Given the description of an element on the screen output the (x, y) to click on. 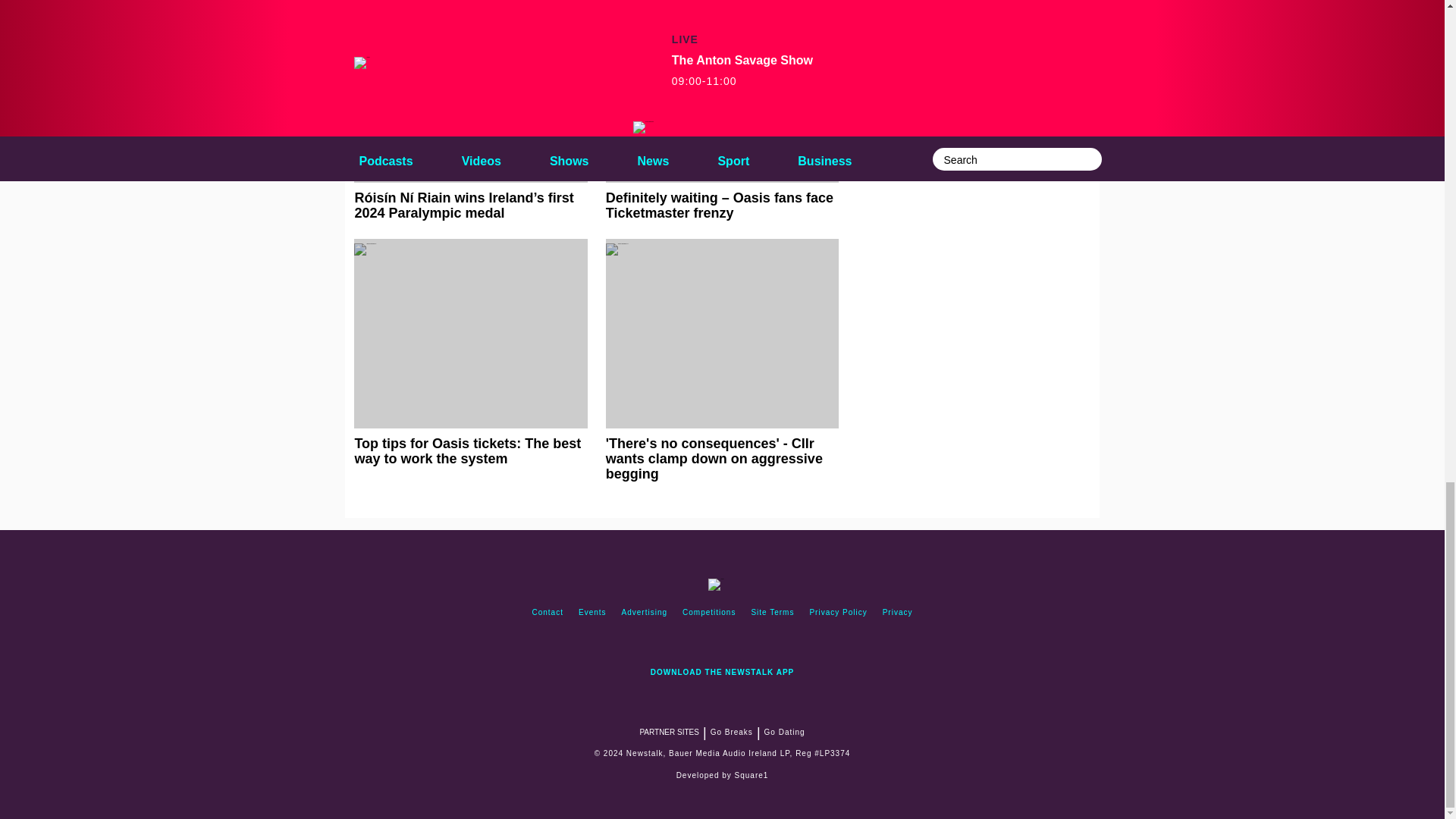
Privacy (897, 612)
Privacy Policy (838, 612)
events (592, 612)
site terms (772, 612)
Top tips for Oasis tickets: The best way to work the system (469, 352)
contact (547, 612)
competitions (708, 612)
advertising (644, 612)
